Given the description of an element on the screen output the (x, y) to click on. 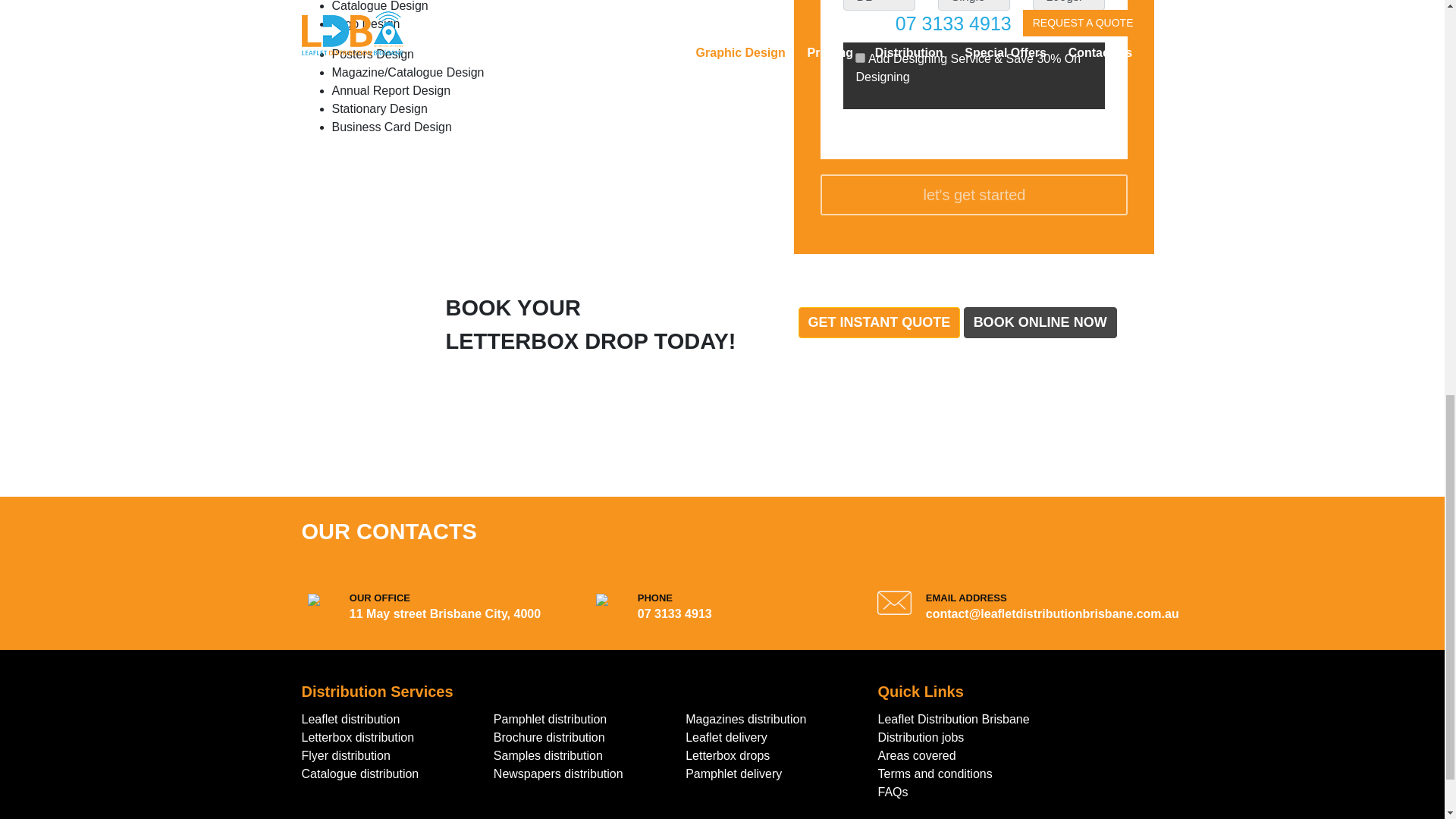
Newspapers distribution (558, 773)
Magazines distribution (745, 718)
Pamphlet distribution (550, 718)
Pamphlet delivery (733, 773)
GET INSTANT QUOTE (878, 322)
Areas covered (916, 755)
Terms and conditions (934, 773)
07 3133 4913 (674, 613)
Brochure distribution (549, 737)
Catalogue distribution (360, 773)
